Given the description of an element on the screen output the (x, y) to click on. 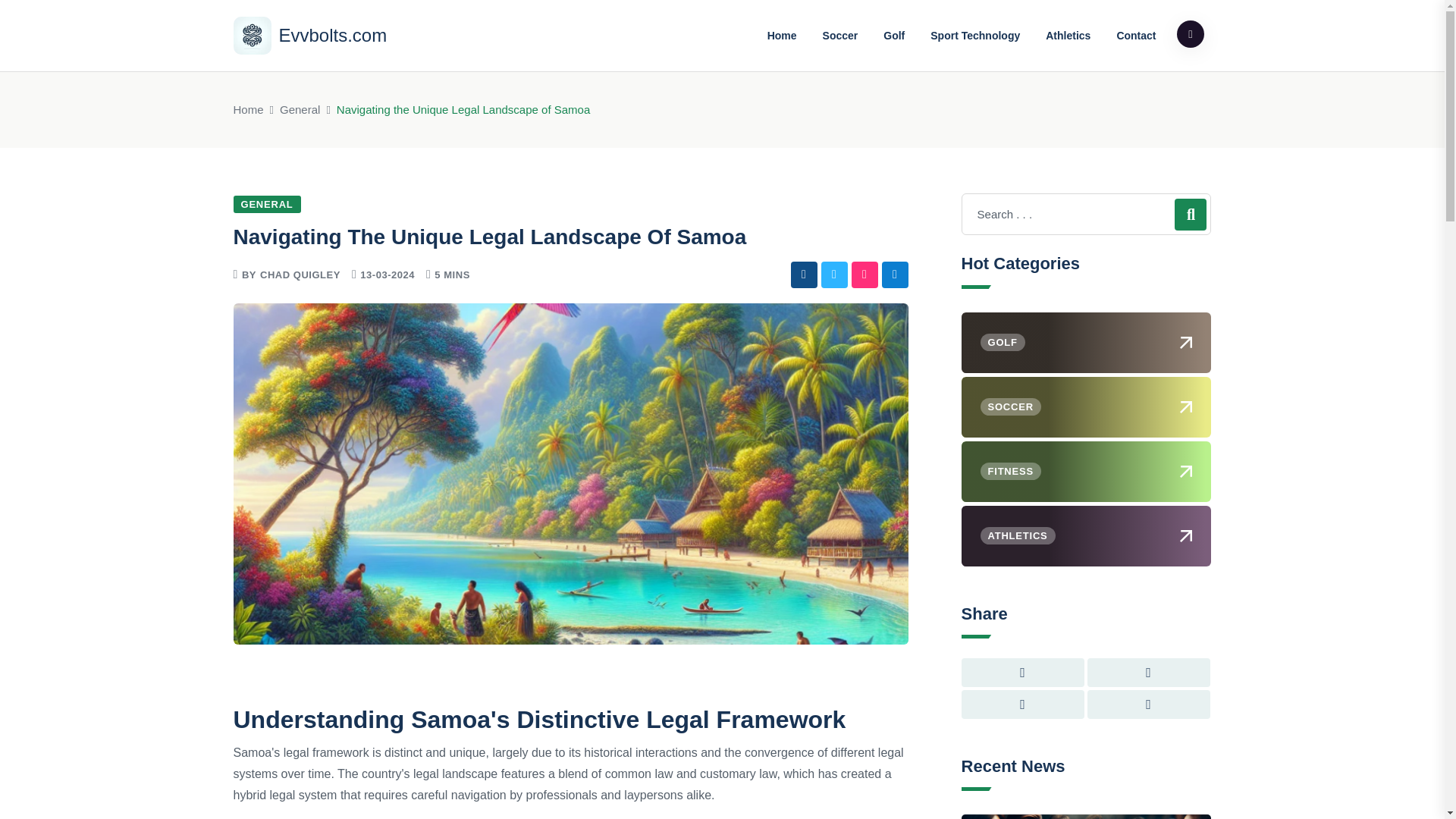
Sport Technology (974, 35)
Evvbolts.com (309, 35)
FITNESS (1085, 471)
Athletics (1067, 35)
SOCCER (1085, 406)
GENERAL (266, 203)
CHAD QUIGLEY (300, 274)
Home (247, 109)
ATHLETICS (1085, 536)
Contact (1136, 35)
General (299, 109)
GOLF (1085, 342)
